Given the description of an element on the screen output the (x, y) to click on. 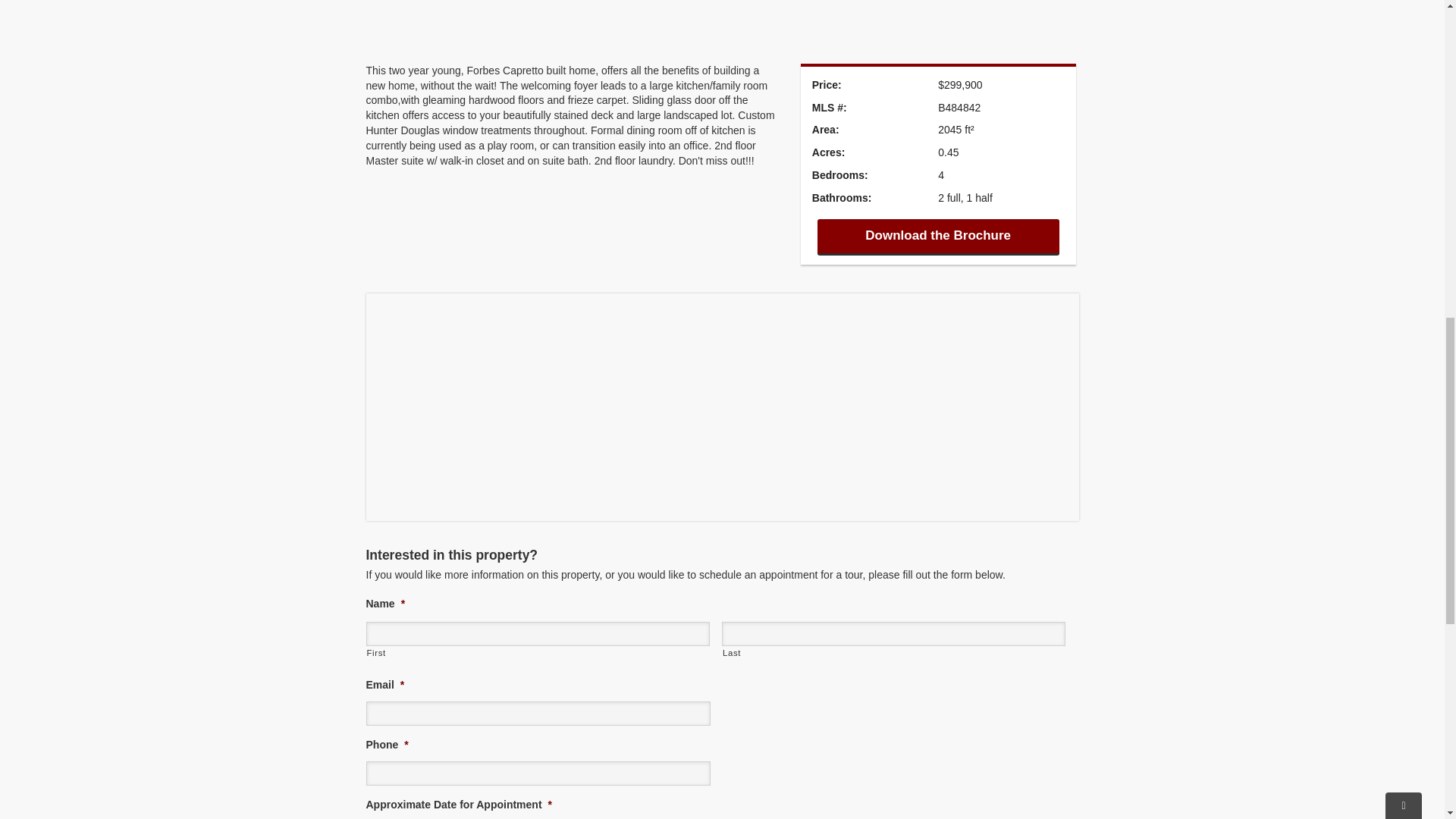
Download the Brochure (938, 236)
